Given the description of an element on the screen output the (x, y) to click on. 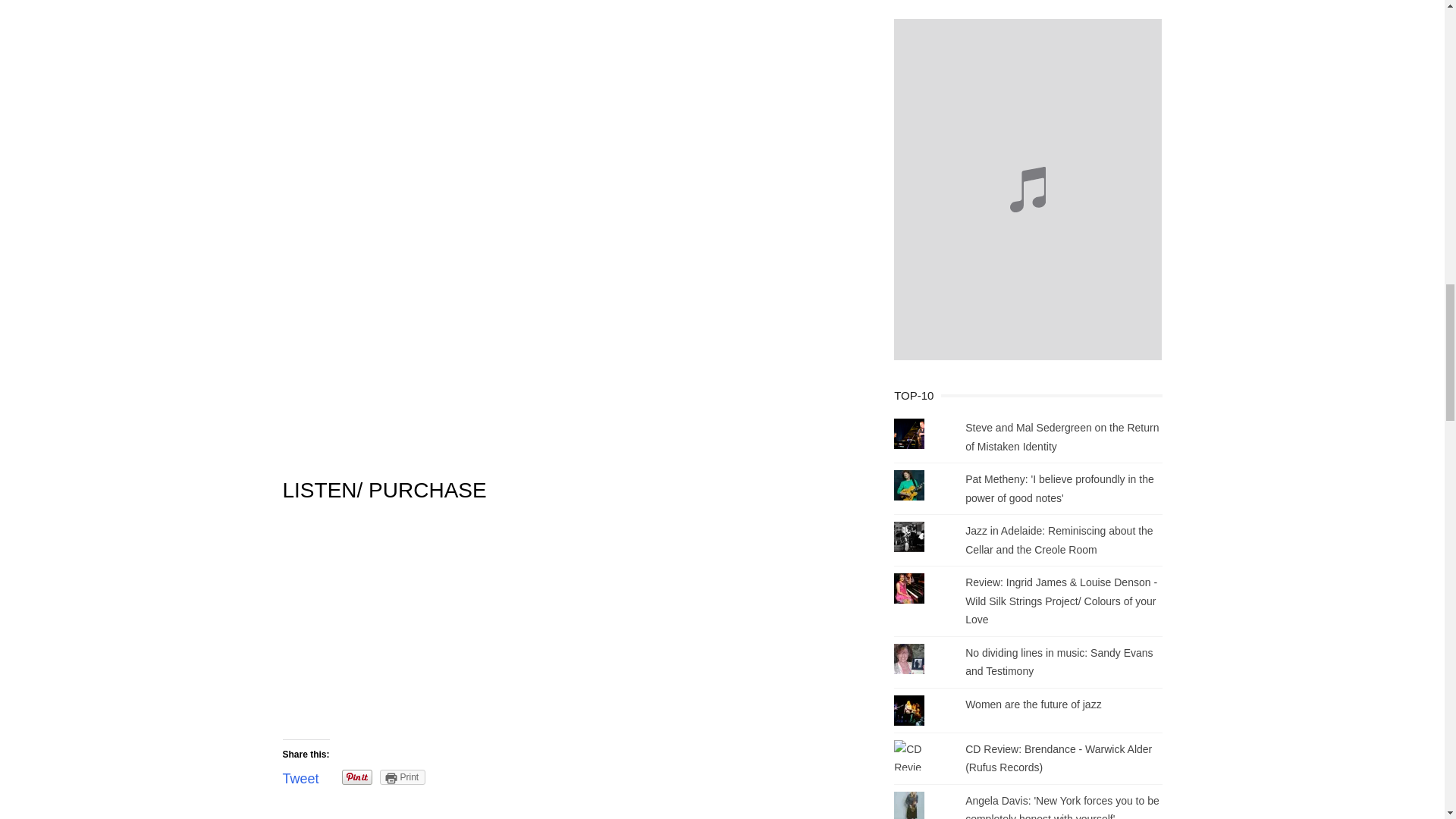
Click to print (403, 776)
Women are the future of jazz (1033, 704)
Steve and Mal Sedergreen on the Return of Mistaken Identity (1061, 436)
No dividing lines in music: Sandy Evans and Testimony (1059, 662)
